Given the description of an element on the screen output the (x, y) to click on. 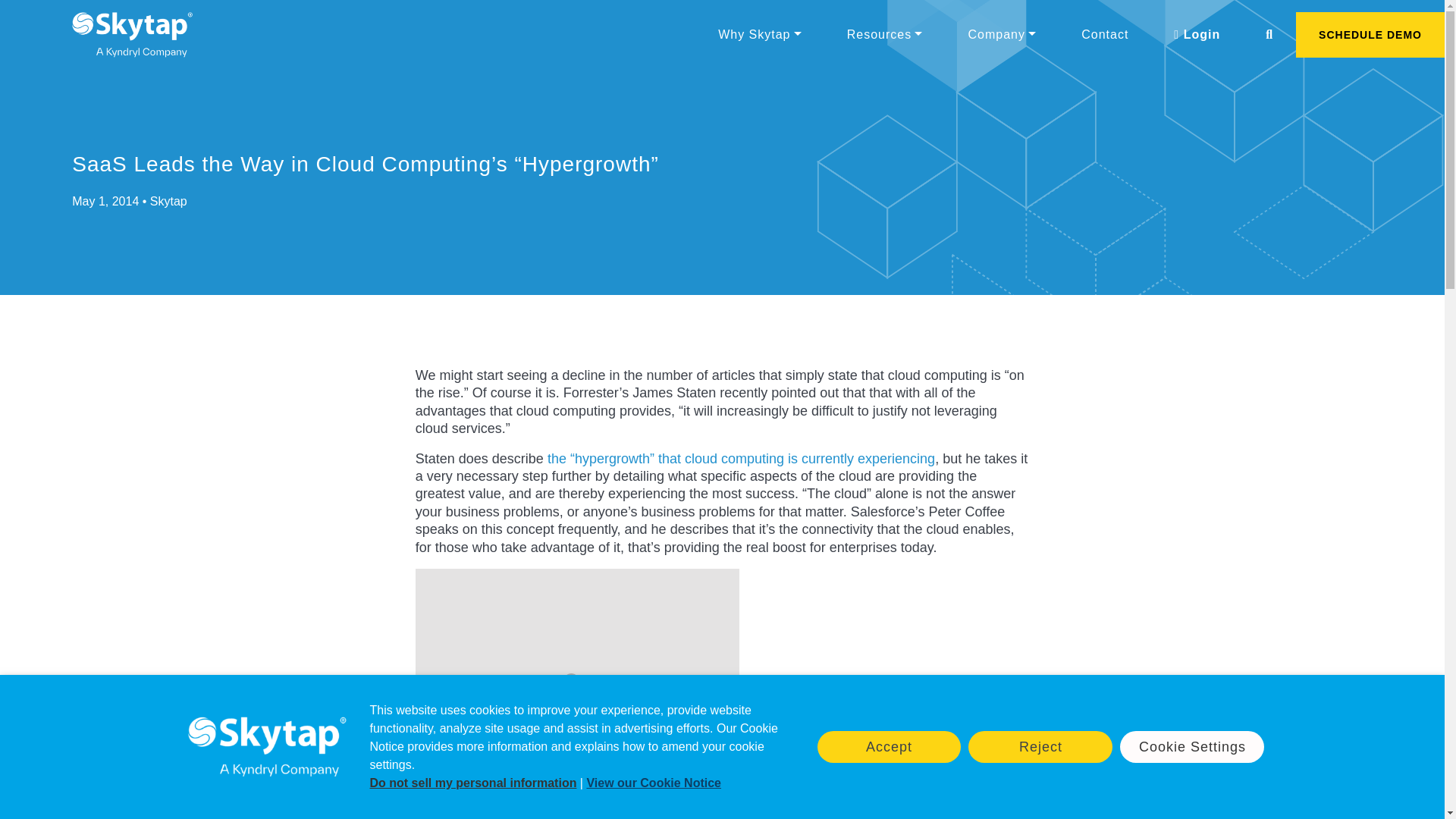
Login (1197, 33)
Resources (884, 33)
Company (1001, 33)
Contact (1104, 33)
Why Skytap (759, 33)
Why Skytap (759, 33)
Functional (514, 814)
Resources (884, 33)
